Given the description of an element on the screen output the (x, y) to click on. 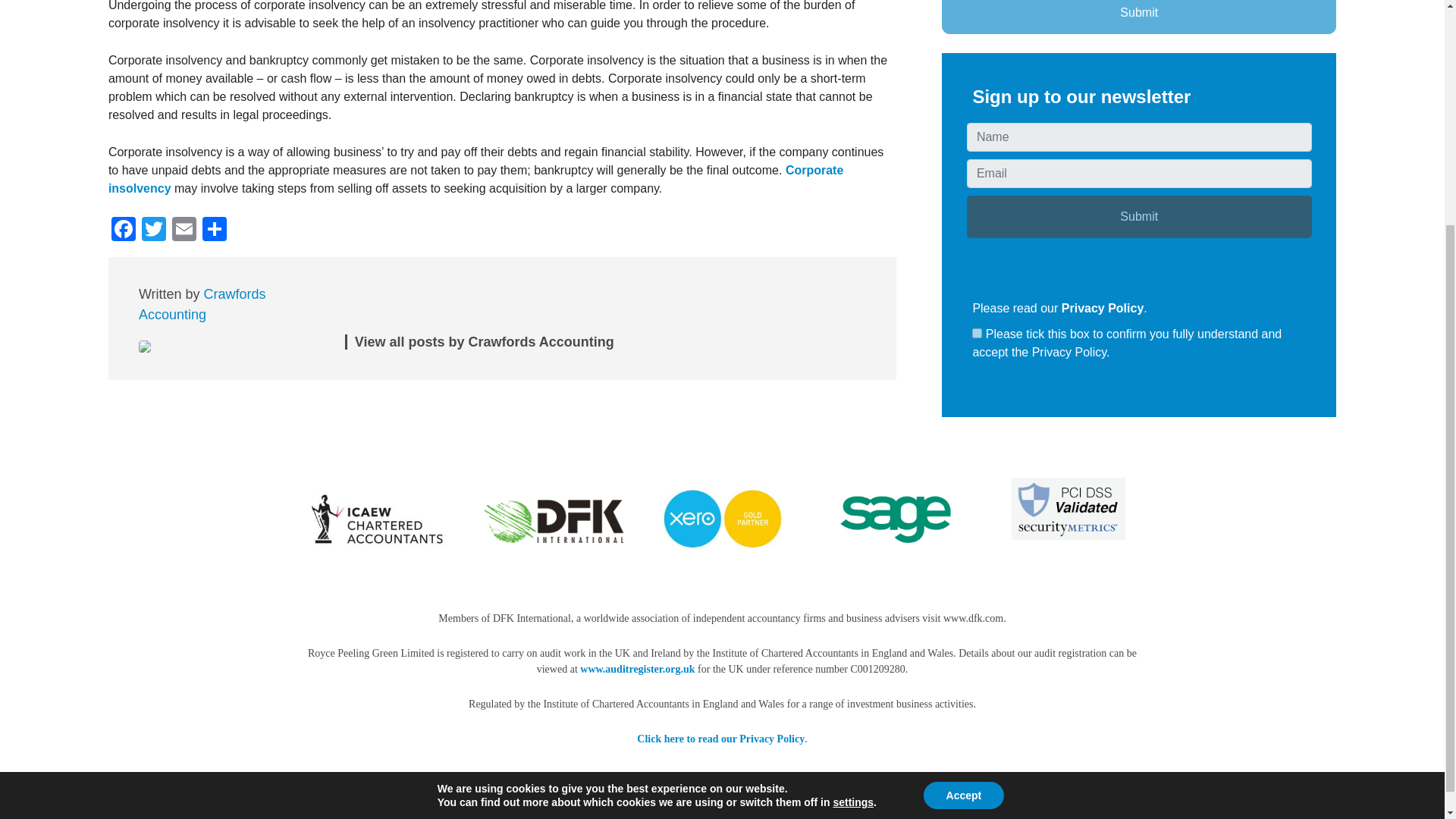
1 (976, 333)
Submit (1138, 216)
